Given the description of an element on the screen output the (x, y) to click on. 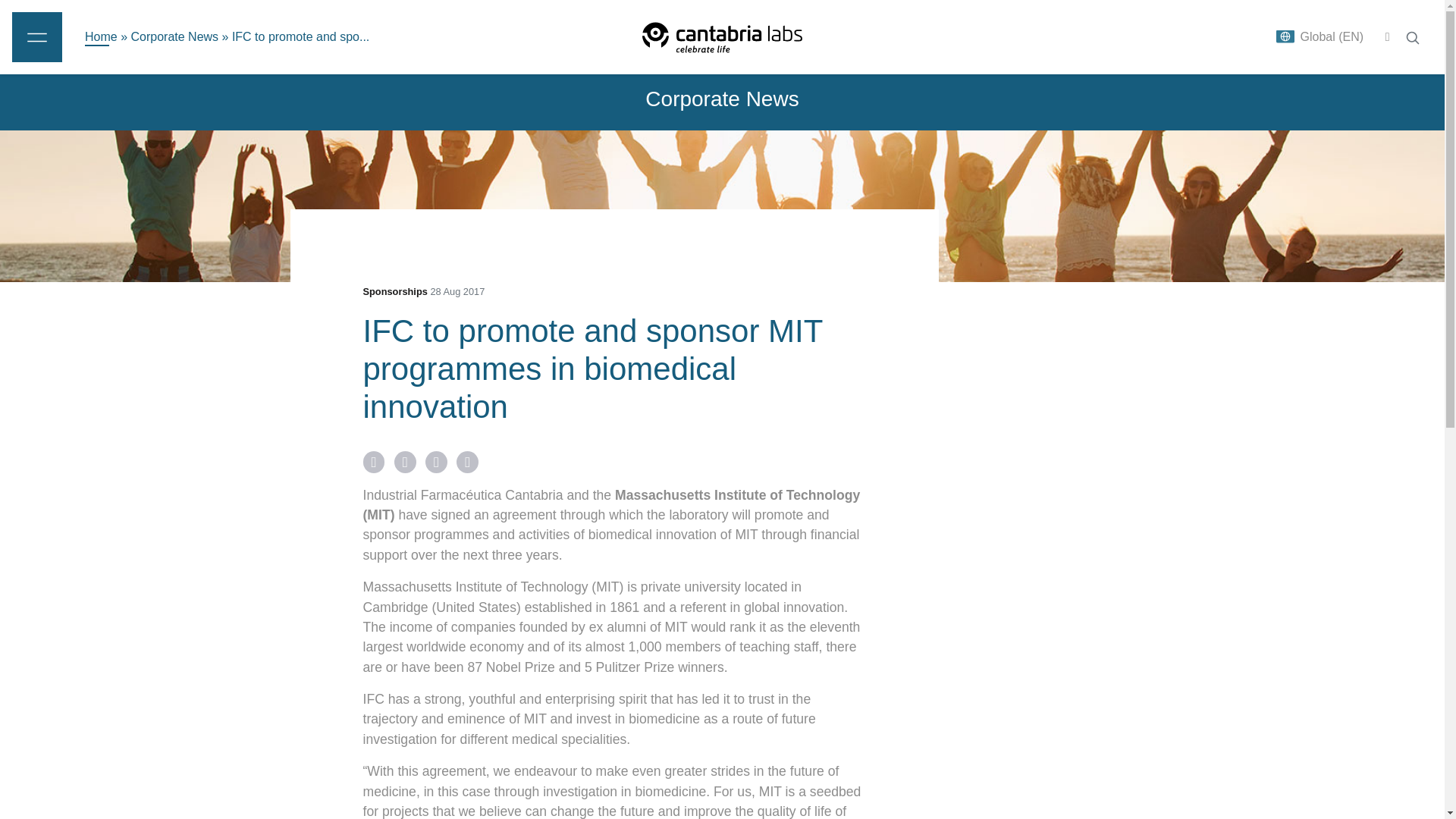
Cantabria Labs (722, 35)
Buscar (1413, 37)
Corporate News (174, 36)
Home (100, 36)
